Given the description of an element on the screen output the (x, y) to click on. 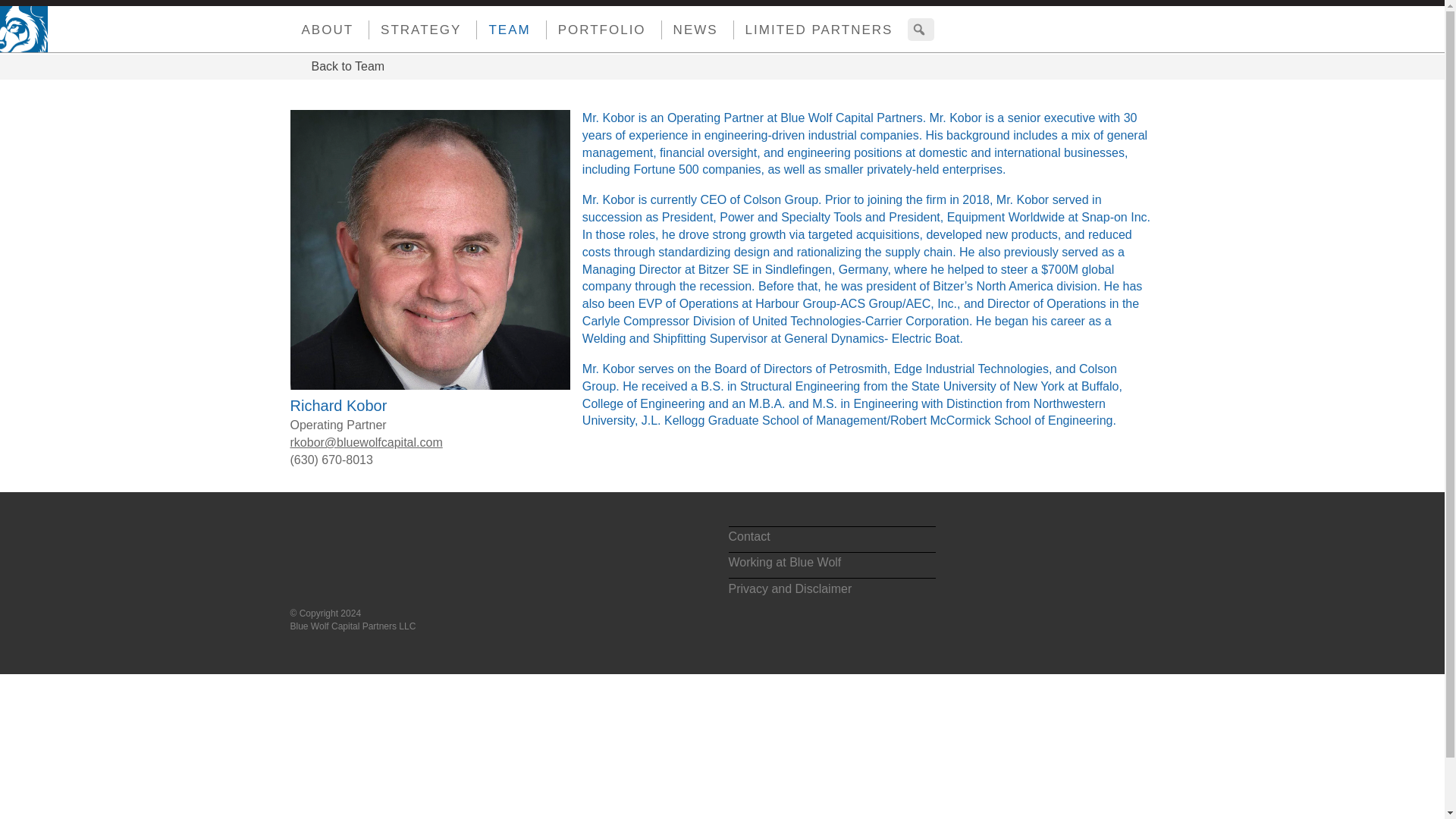
Privacy and Disclaimer (831, 590)
ABOUT (321, 29)
Search (13, 13)
Contact (831, 539)
Blue Wolf Capital (15, 20)
Back to Team (336, 67)
Blue Wolf Capital (371, 553)
NEWS (689, 29)
STRATEGY (415, 29)
Working at Blue Wolf (831, 565)
